Given the description of an element on the screen output the (x, y) to click on. 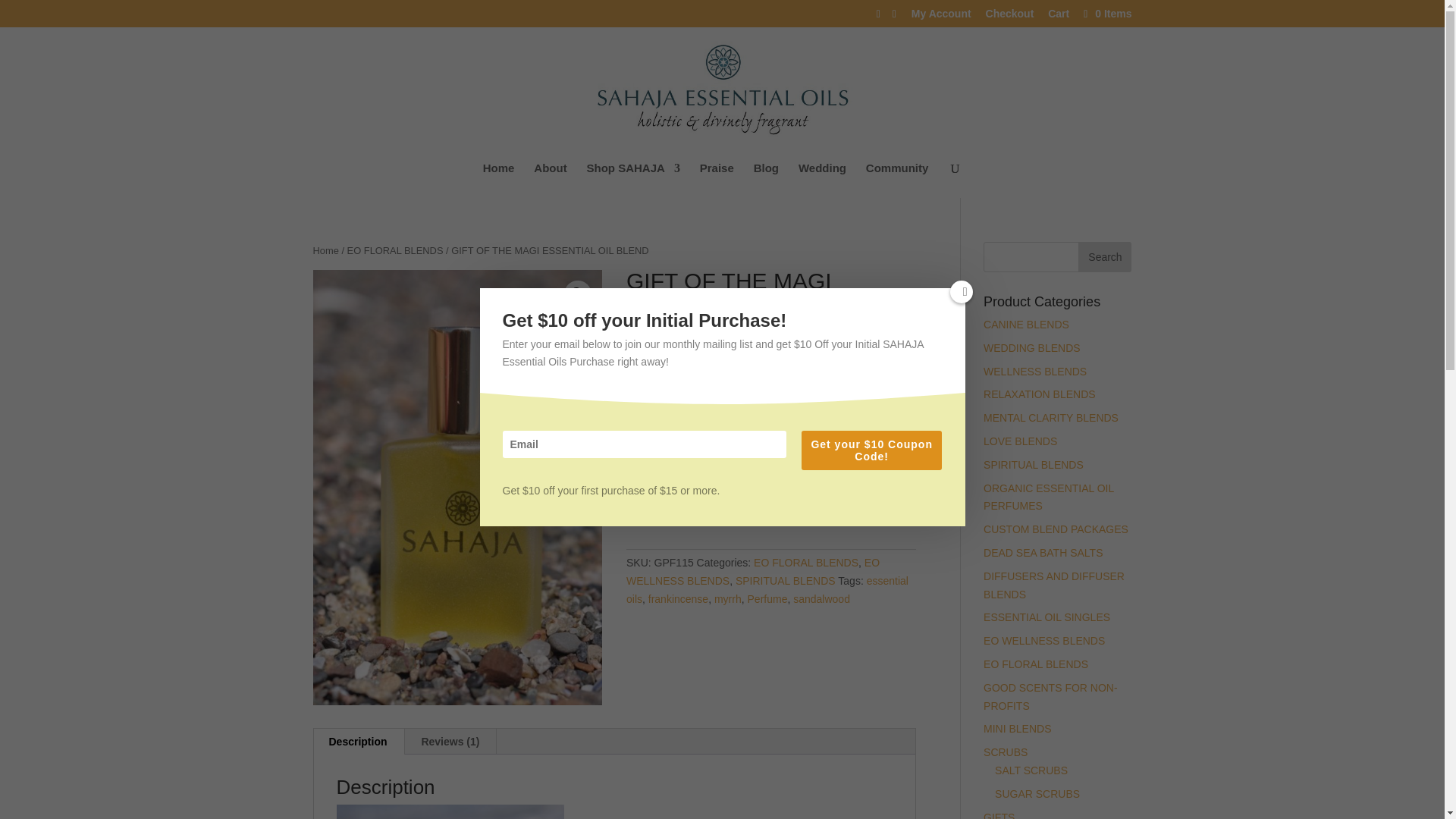
About (550, 180)
Search (1104, 256)
yes (633, 516)
Shop SAHAJA (632, 180)
Praise (716, 180)
Cart (1058, 16)
Wedding (821, 180)
Home (499, 180)
My Account (941, 16)
1 yellow perf top on in pebbles (457, 487)
1 (653, 474)
0 Items (1105, 13)
Blog (766, 180)
Community (897, 180)
Checkout (1009, 16)
